Given the description of an element on the screen output the (x, y) to click on. 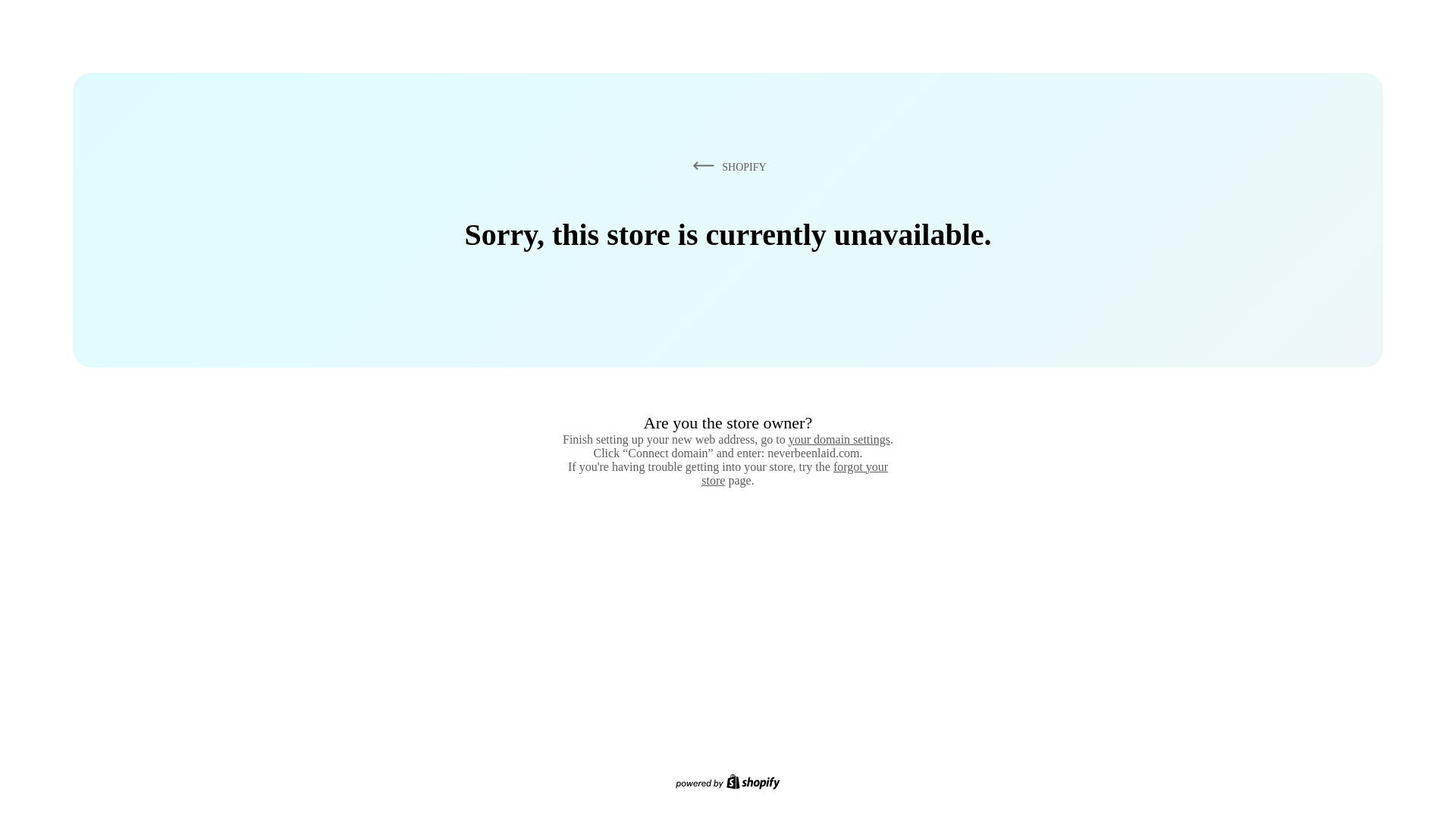
forgot your store (794, 473)
your domain settings (839, 439)
SHOPIFY (726, 166)
